Given the description of an element on the screen output the (x, y) to click on. 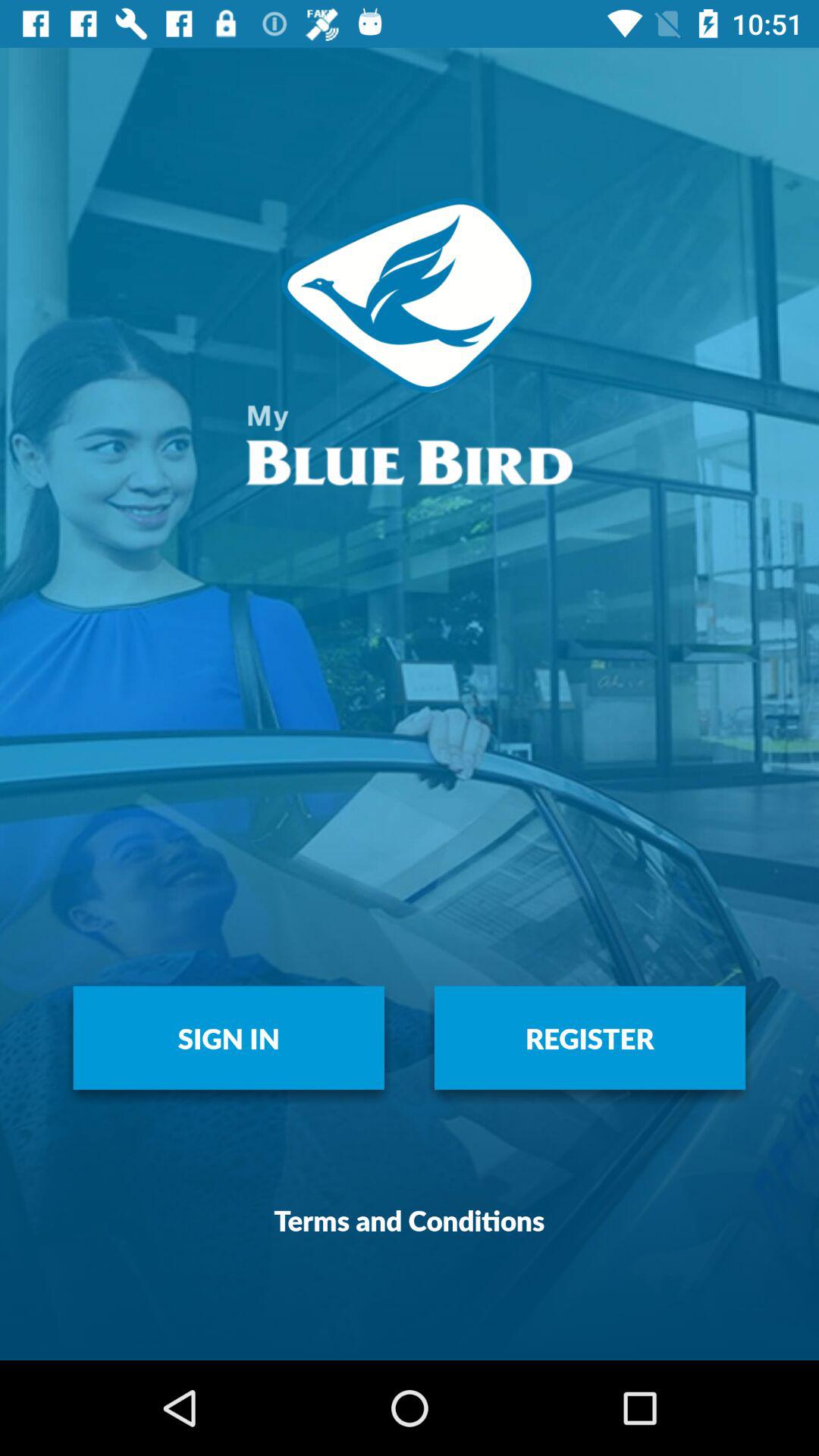
select the sign in at the bottom left corner (228, 1037)
